Given the description of an element on the screen output the (x, y) to click on. 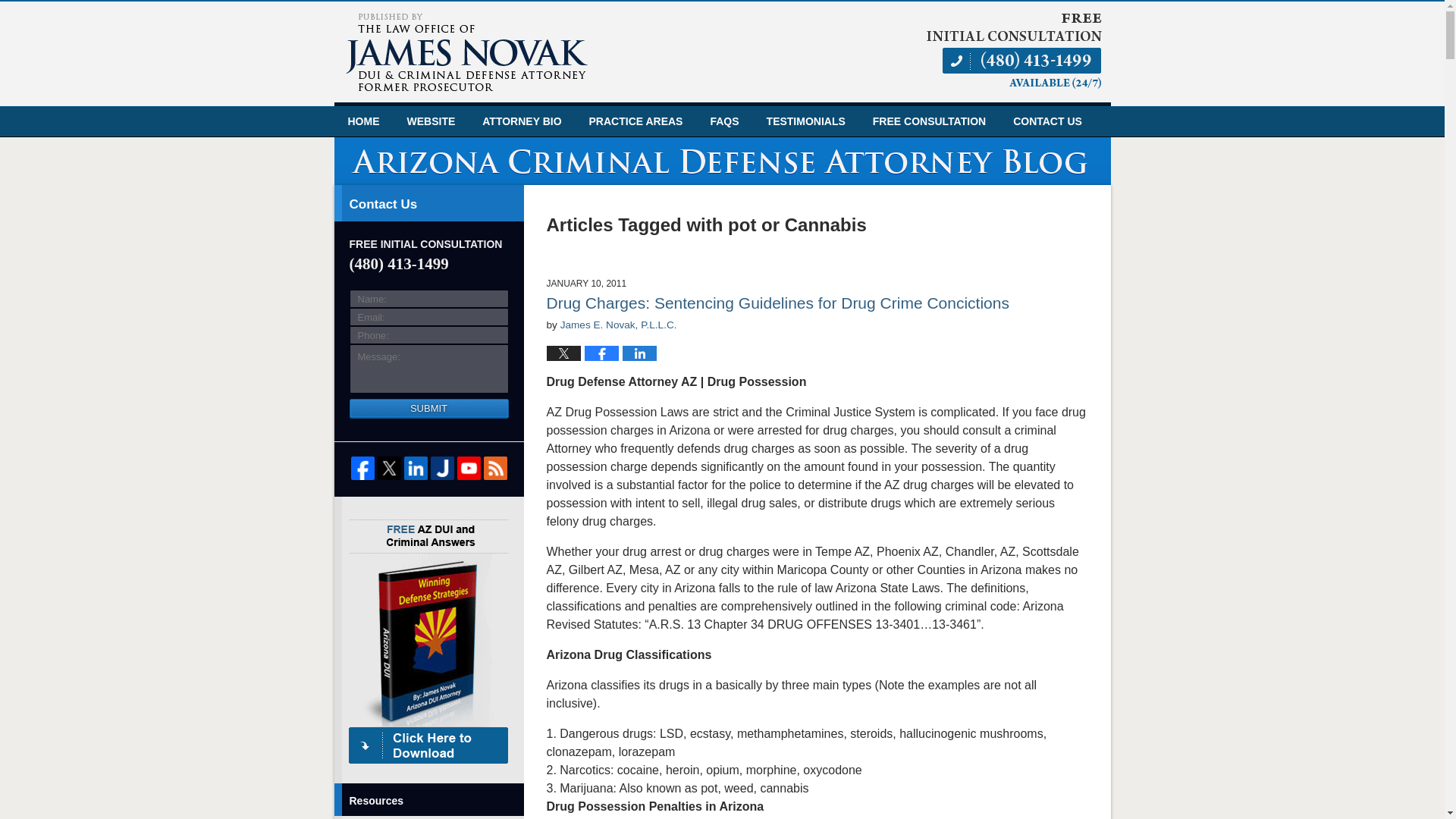
TESTIMONIALS (805, 121)
FREE CONSULTATION (928, 121)
Published By Law Office of James Novak (1013, 50)
ATTORNEY BIO (521, 121)
PRACTICE AREAS (636, 121)
HOME (363, 121)
Arizona Criminal Defense Attorney Blog (465, 52)
WEBSITE (430, 121)
CONTACT US (1047, 121)
James E. Novak, P.L.L.C. (618, 324)
FAQS (723, 121)
